Given the description of an element on the screen output the (x, y) to click on. 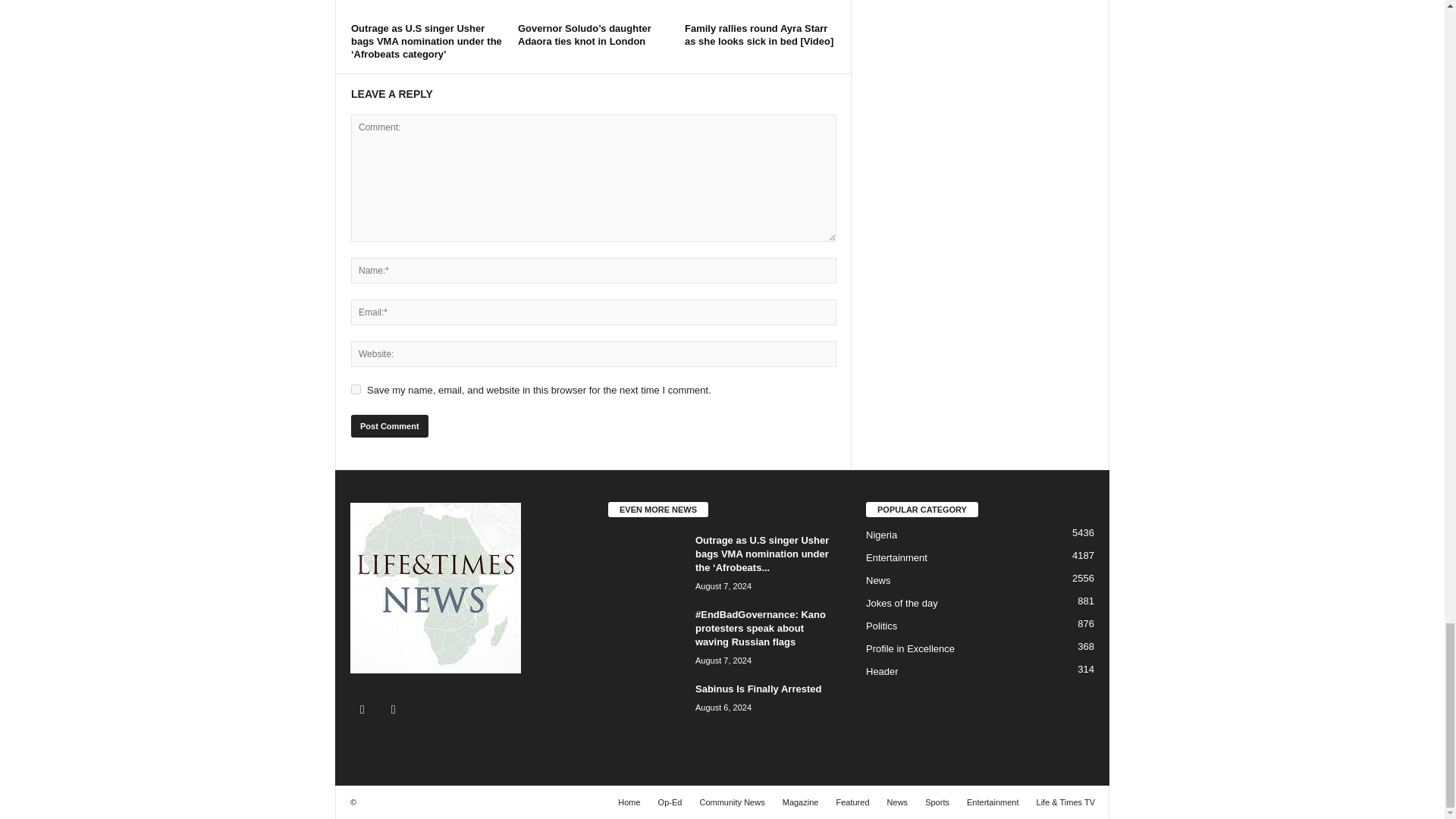
yes (355, 388)
Post Comment (389, 425)
